Given the description of an element on the screen output the (x, y) to click on. 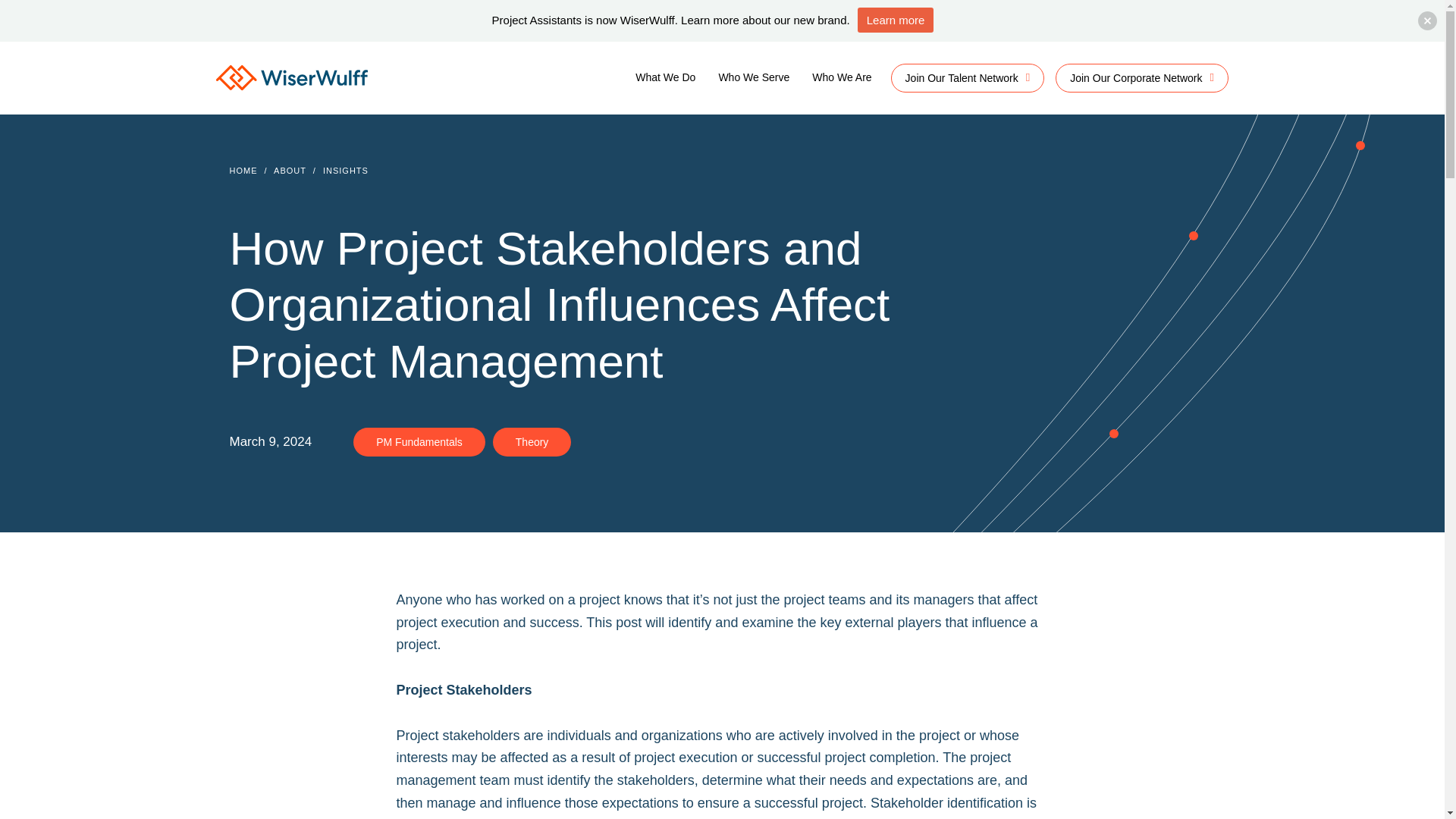
Join Our Corporate Network (1141, 77)
ABOUT (289, 170)
WiserWulff (291, 80)
What We Do (665, 77)
Who We Serve (753, 77)
Who We Are (841, 77)
HOME (242, 170)
Join Our Talent Network (968, 77)
